Given the description of an element on the screen output the (x, y) to click on. 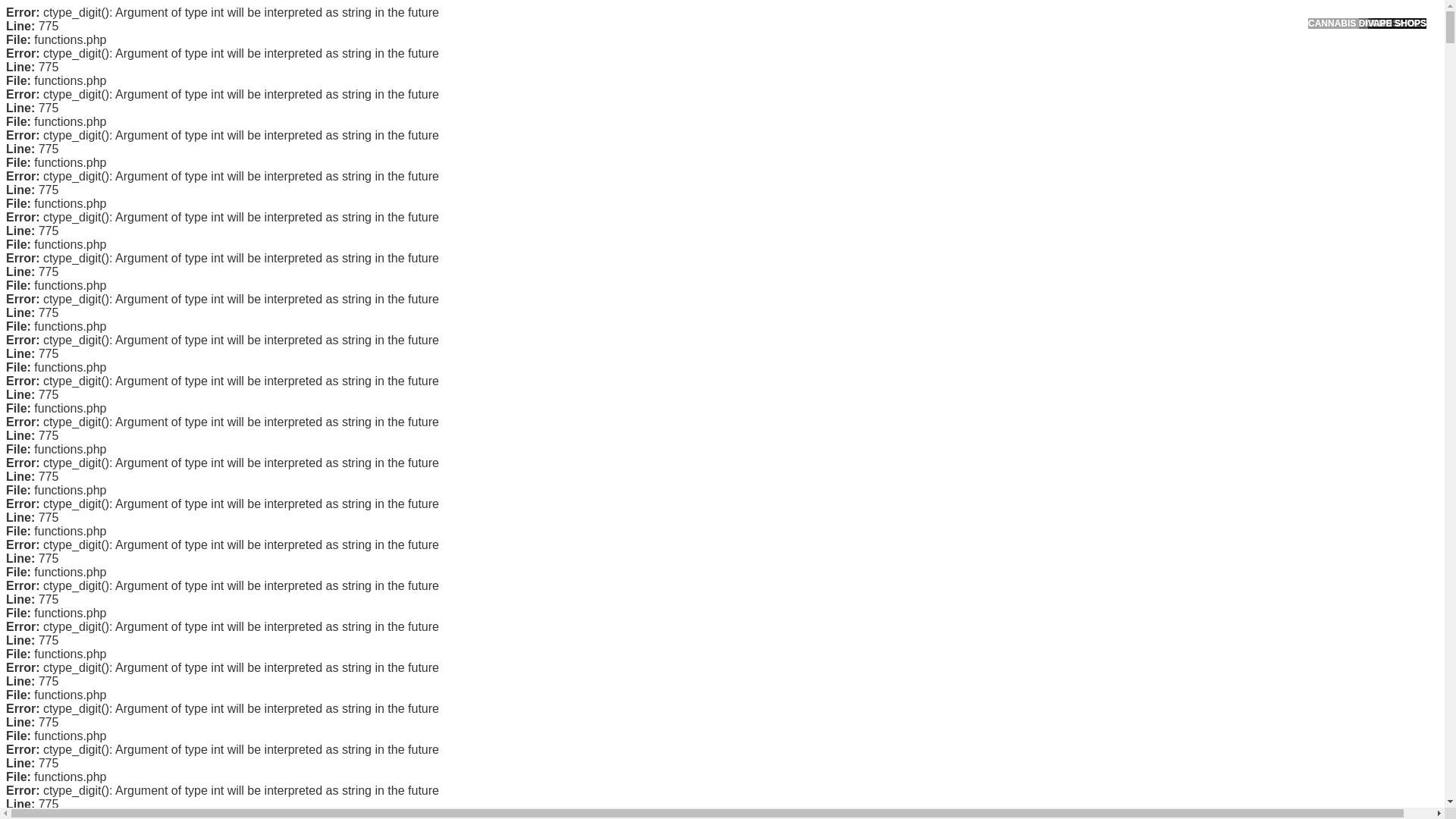
September 2020 (1005, 432)
Search (1050, 85)
RSS (977, 612)
Contact Us (991, 258)
Search (1050, 85)
Search for: (1049, 47)
Blog (976, 510)
OSCARCOLLECTIVE.CO.UK (432, 28)
Skip to content (34, 9)
Search (1050, 85)
ADMINISTRATOR (417, 118)
DMCA Policy (996, 282)
Disclaimer (990, 354)
Latest Article (996, 172)
Log in (980, 588)
